Given the description of an element on the screen output the (x, y) to click on. 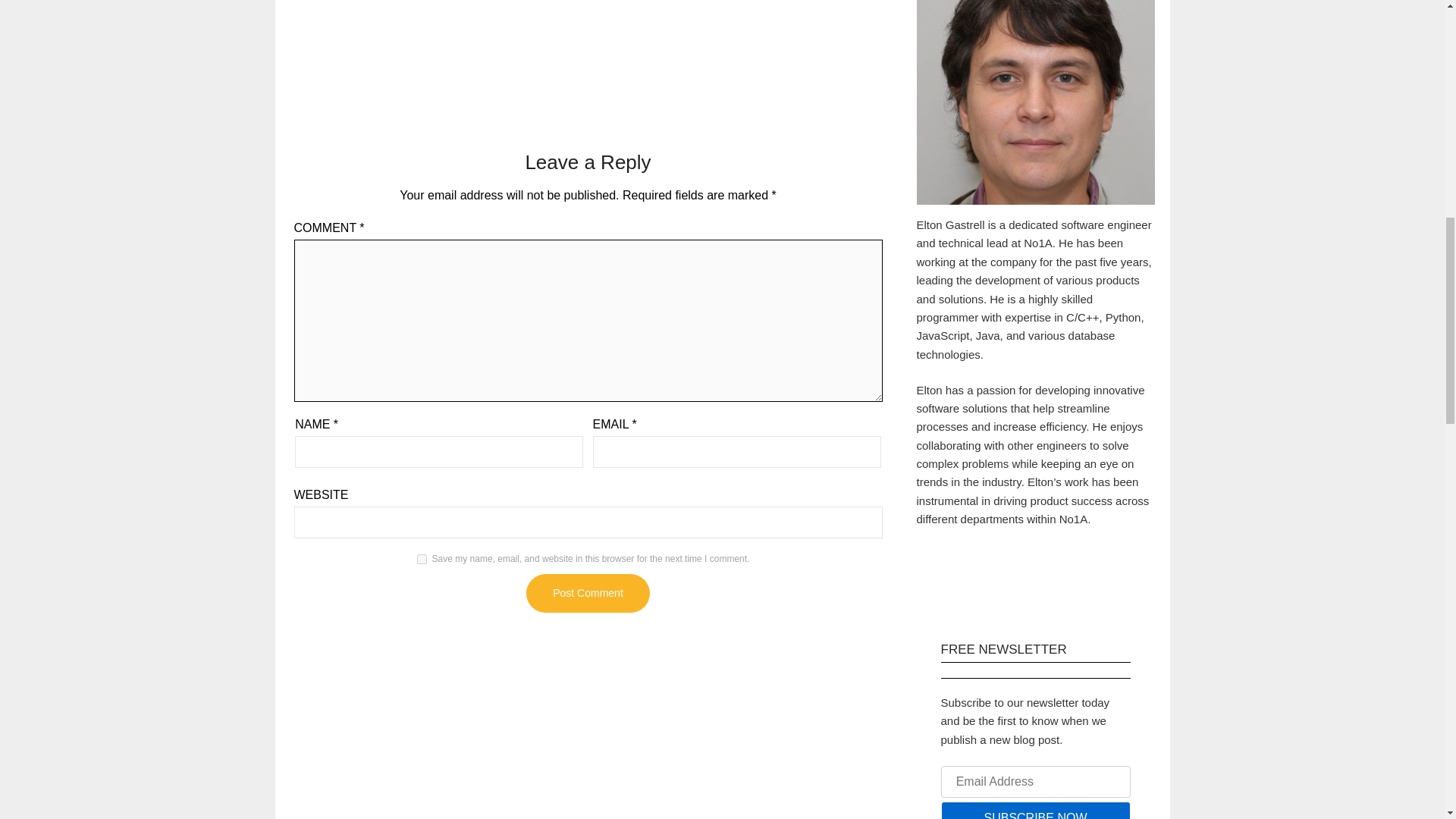
yes (421, 559)
Post Comment (587, 593)
SUBSCRIBE NOW (1034, 810)
Post Comment (587, 593)
SUBSCRIBE NOW (1034, 810)
